Given the description of an element on the screen output the (x, y) to click on. 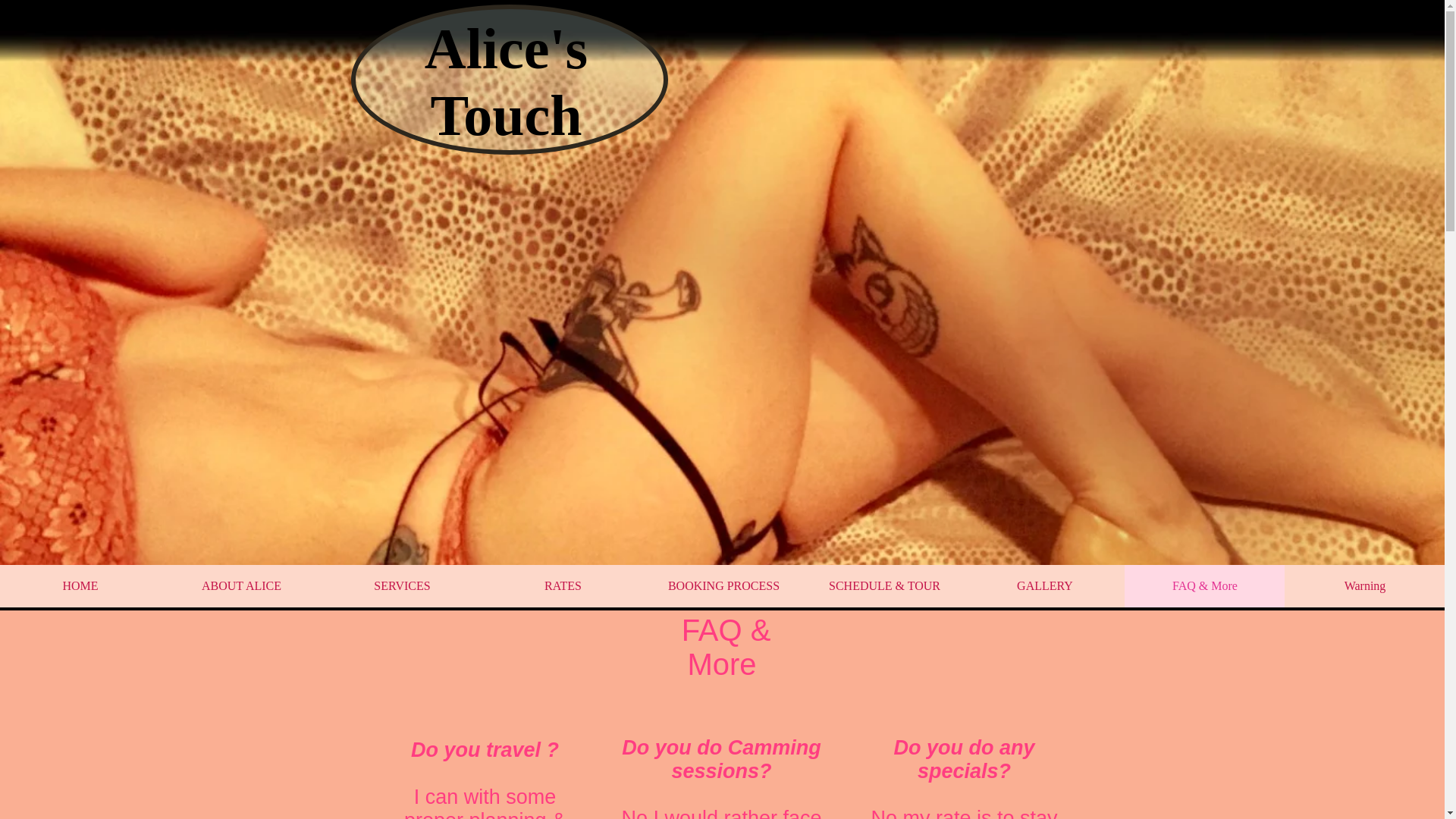
HOME (80, 586)
SERVICES (401, 586)
BOOKING PROCESS (723, 586)
ABOUT ALICE (240, 586)
Alice's Touch (506, 81)
GALLERY (1043, 586)
RATES (562, 586)
